Given the description of an element on the screen output the (x, y) to click on. 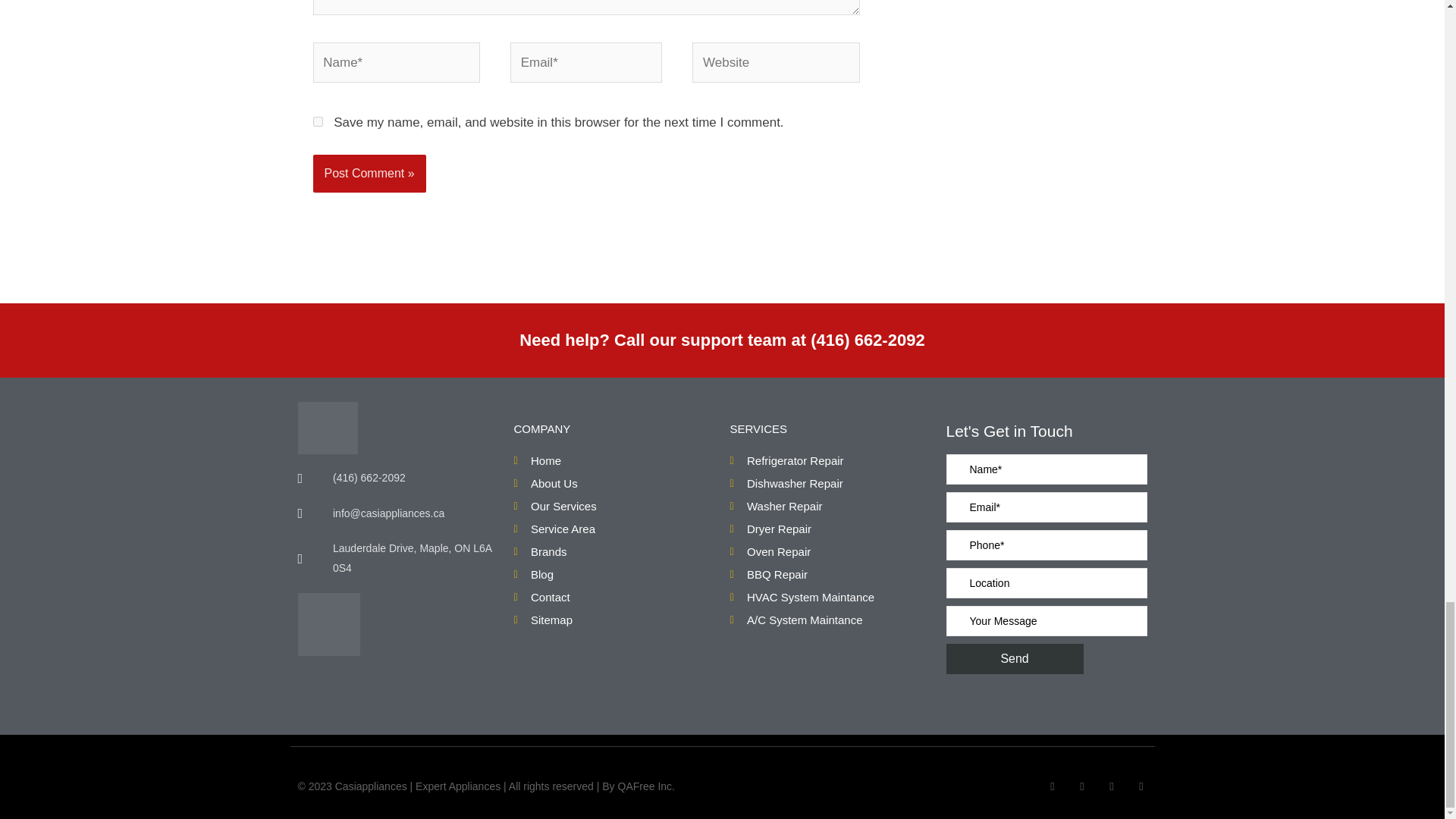
Send (1014, 658)
yes (317, 121)
